Given the description of an element on the screen output the (x, y) to click on. 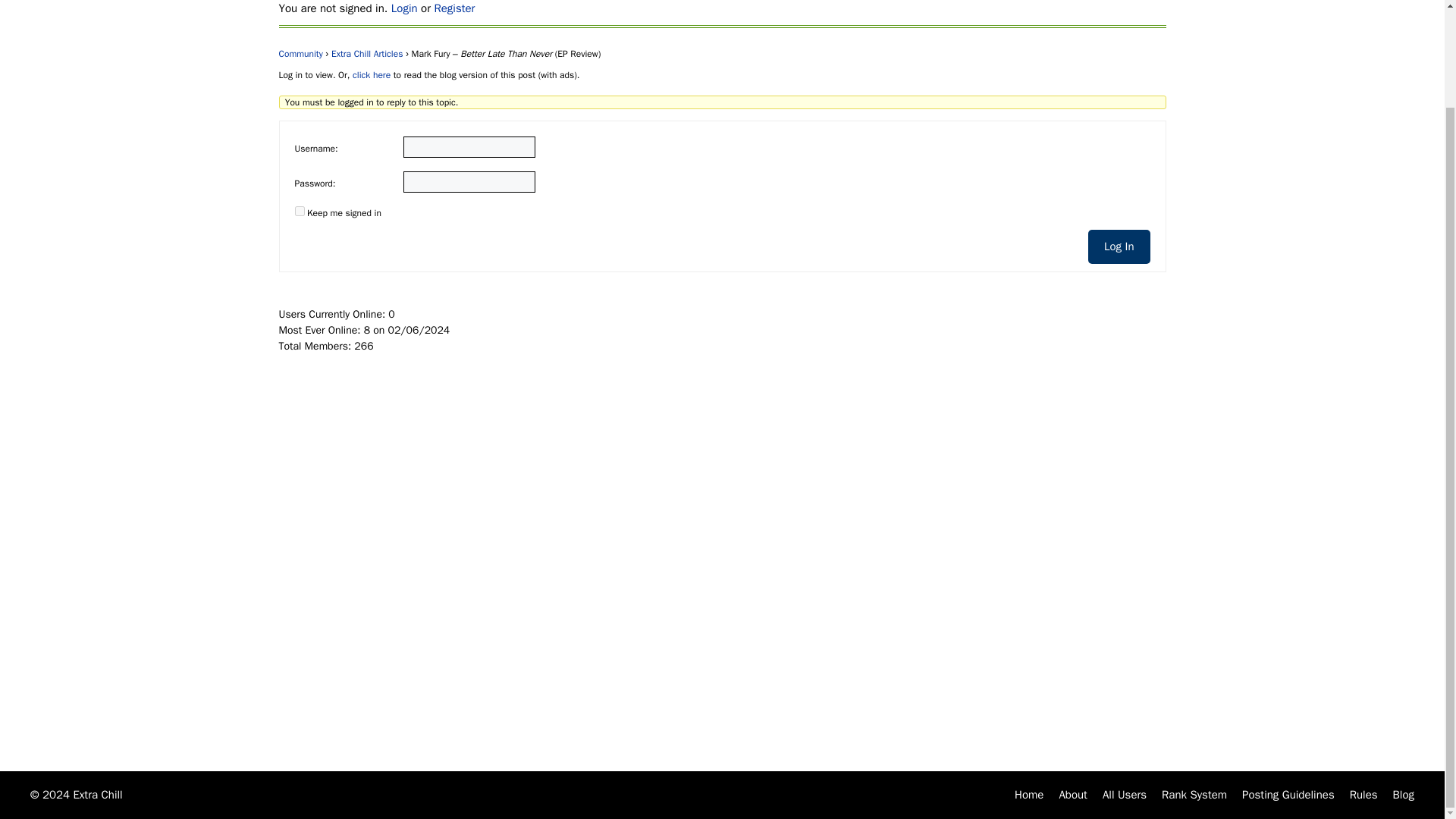
Rules (1363, 794)
All Users (1124, 794)
Extra Chill Articles (367, 53)
Home (1028, 794)
Community (301, 53)
forever (299, 211)
Posting Guidelines (1288, 794)
Register (453, 8)
Login (404, 8)
About (1072, 794)
